Given the description of an element on the screen output the (x, y) to click on. 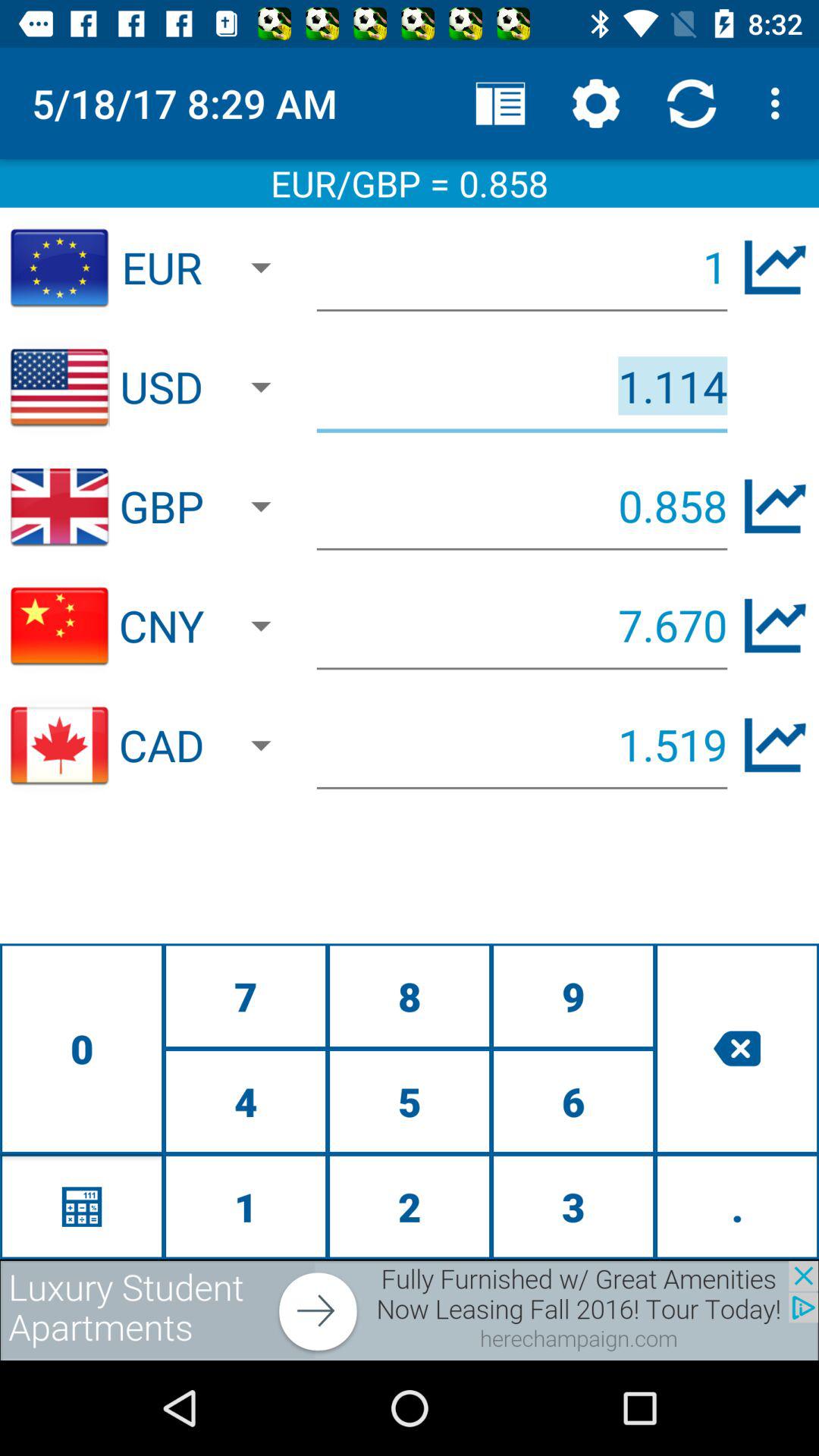
more info (775, 625)
